Given the description of an element on the screen output the (x, y) to click on. 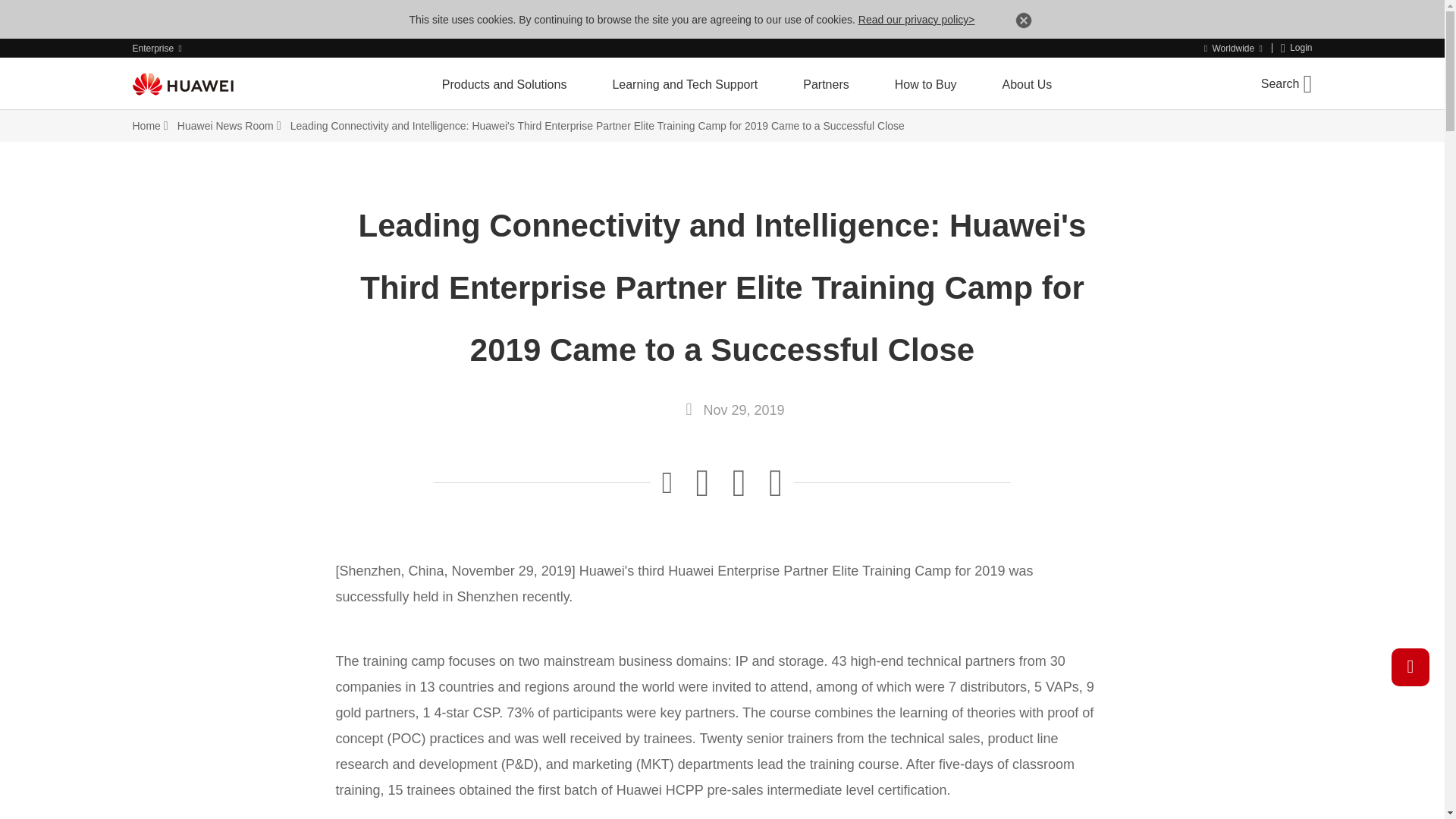
Login (1296, 48)
Huawei (182, 83)
Close (1023, 22)
